Given the description of an element on the screen output the (x, y) to click on. 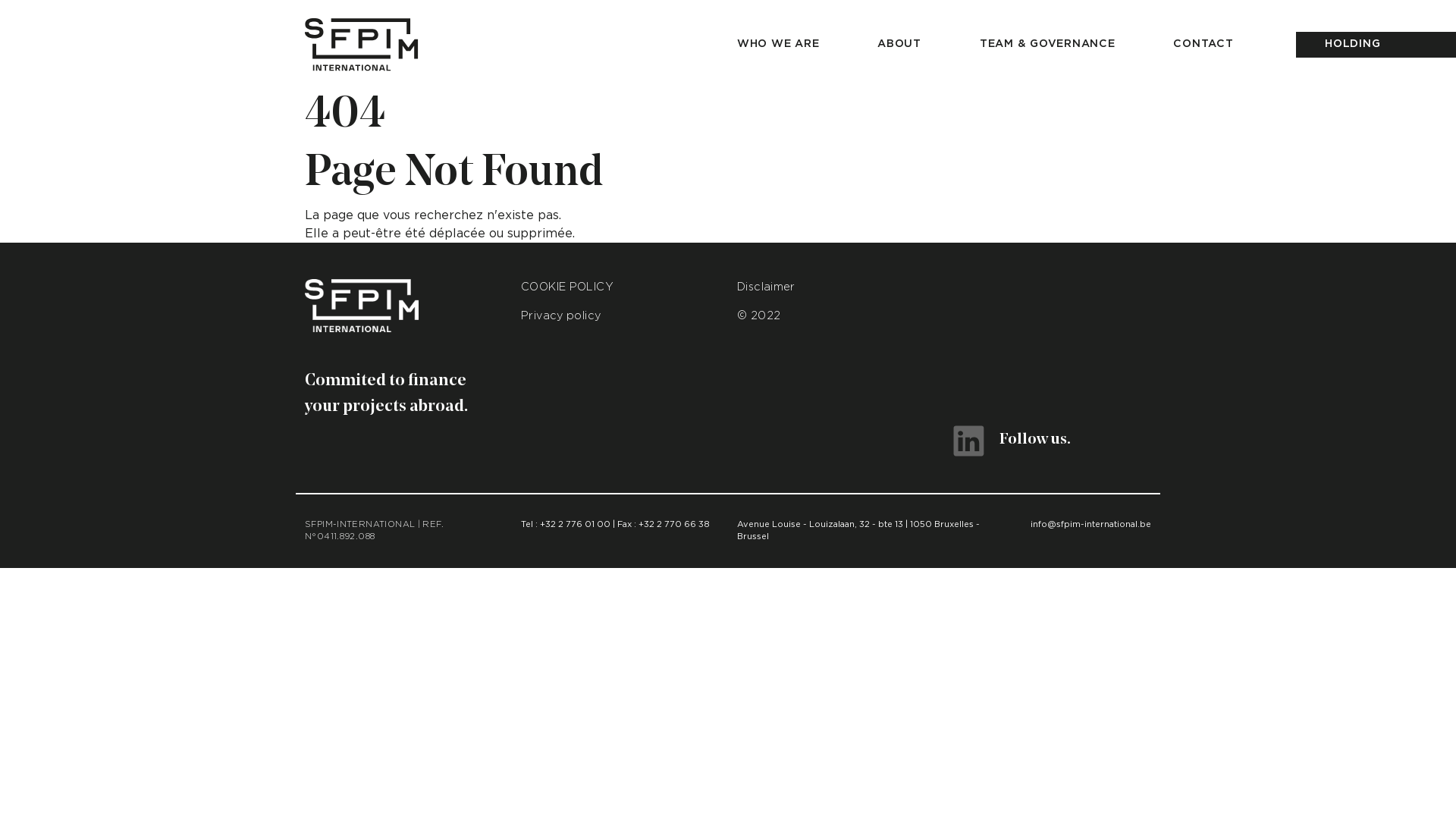
Follow us. Element type: text (1011, 440)
WHO WE ARE Element type: text (778, 44)
ABOUT Element type: text (899, 44)
TEAM & GOVERNANCE Element type: text (1047, 44)
HOLDING Element type: text (1352, 44)
CONTACT Element type: text (1203, 44)
SFPI Home Element type: hover (361, 44)
COOKIE POLICY Element type: text (566, 286)
